Given the description of an element on the screen output the (x, y) to click on. 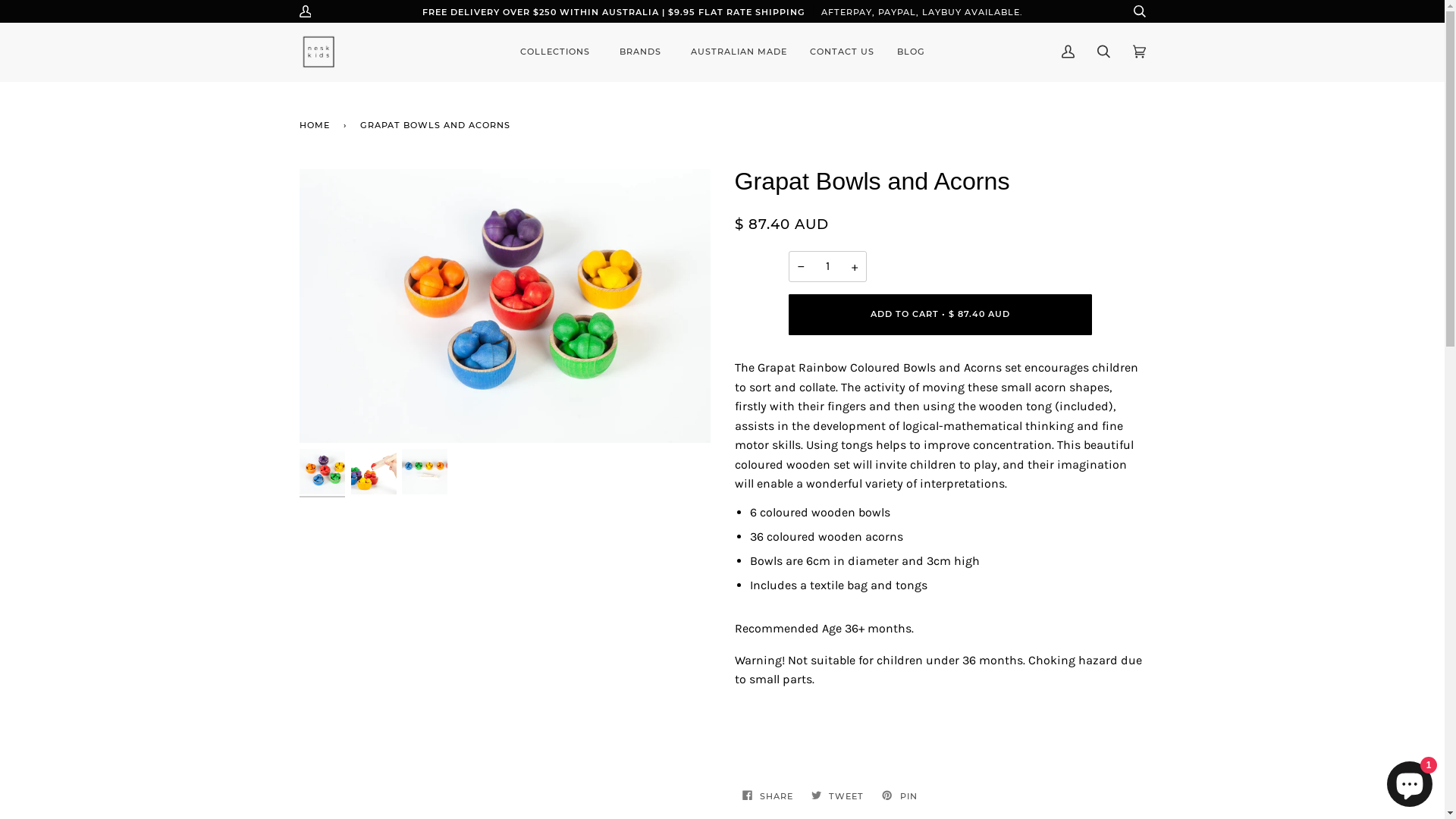
BRANDS Element type: text (643, 51)
My Account Element type: text (1067, 51)
COLLECTIONS Element type: text (557, 51)
BLOG Element type: text (910, 51)
+ Element type: text (853, 266)
HOME Element type: text (316, 125)
Search Element type: text (1103, 51)
Cart
(0) Element type: text (1138, 51)
TWEET Element type: text (838, 796)
SHARE Element type: text (768, 796)
Shopify online store chat Element type: hover (1409, 780)
PIN Element type: text (899, 796)
AUSTRALIAN MADE Element type: text (738, 51)
CONTACT US Element type: text (840, 51)
